Given the description of an element on the screen output the (x, y) to click on. 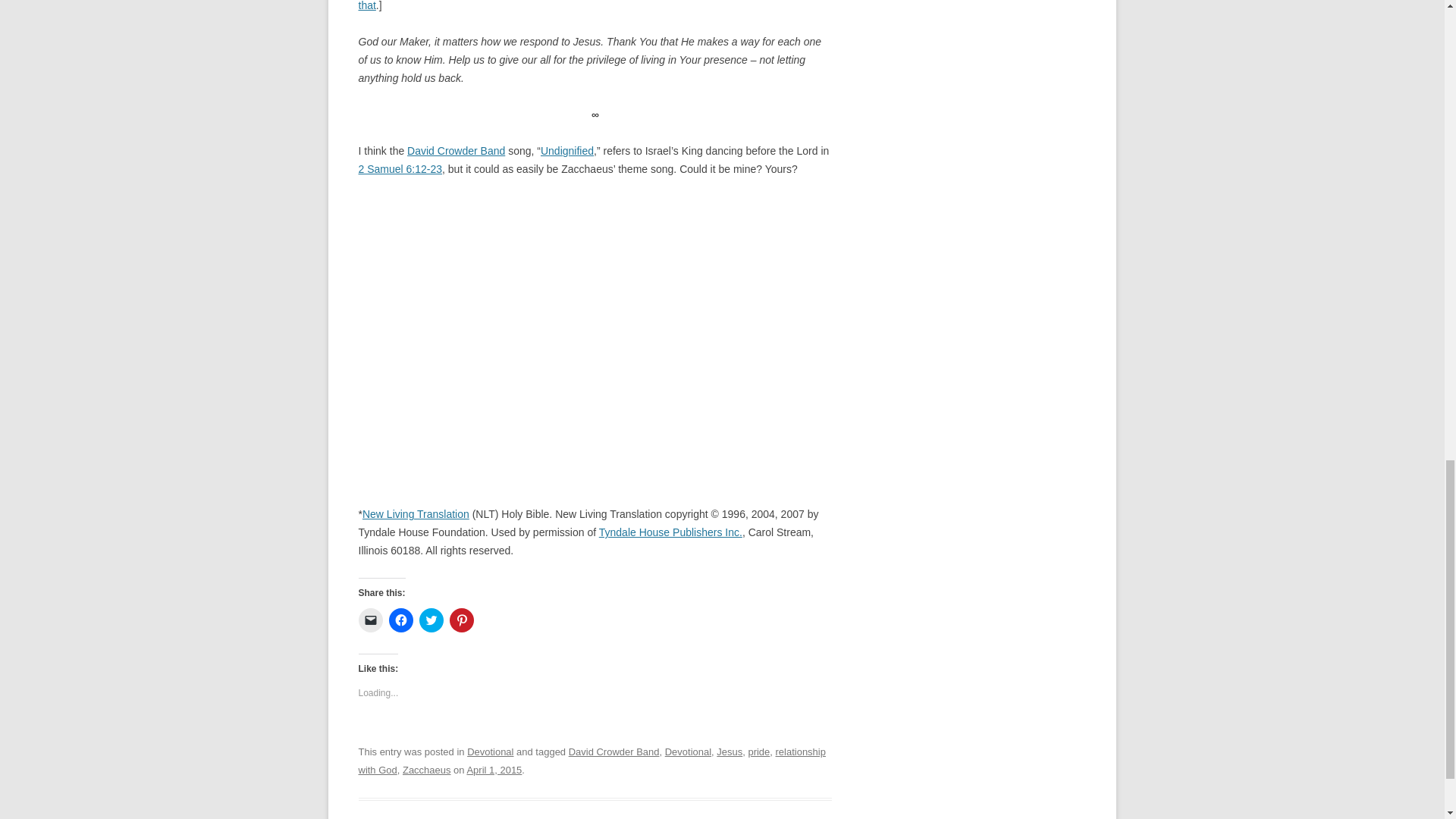
Click to email a link to a friend (369, 620)
6:00 am (493, 769)
Click to share on Facebook (400, 620)
2 Samuel 6:12-23 at Biblegateway.com (400, 168)
YouTube: David Crowder Band: Undignified (567, 150)
Click to share on Pinterest (460, 620)
Crowder Music (456, 150)
Click to share on Twitter (430, 620)
